Given the description of an element on the screen output the (x, y) to click on. 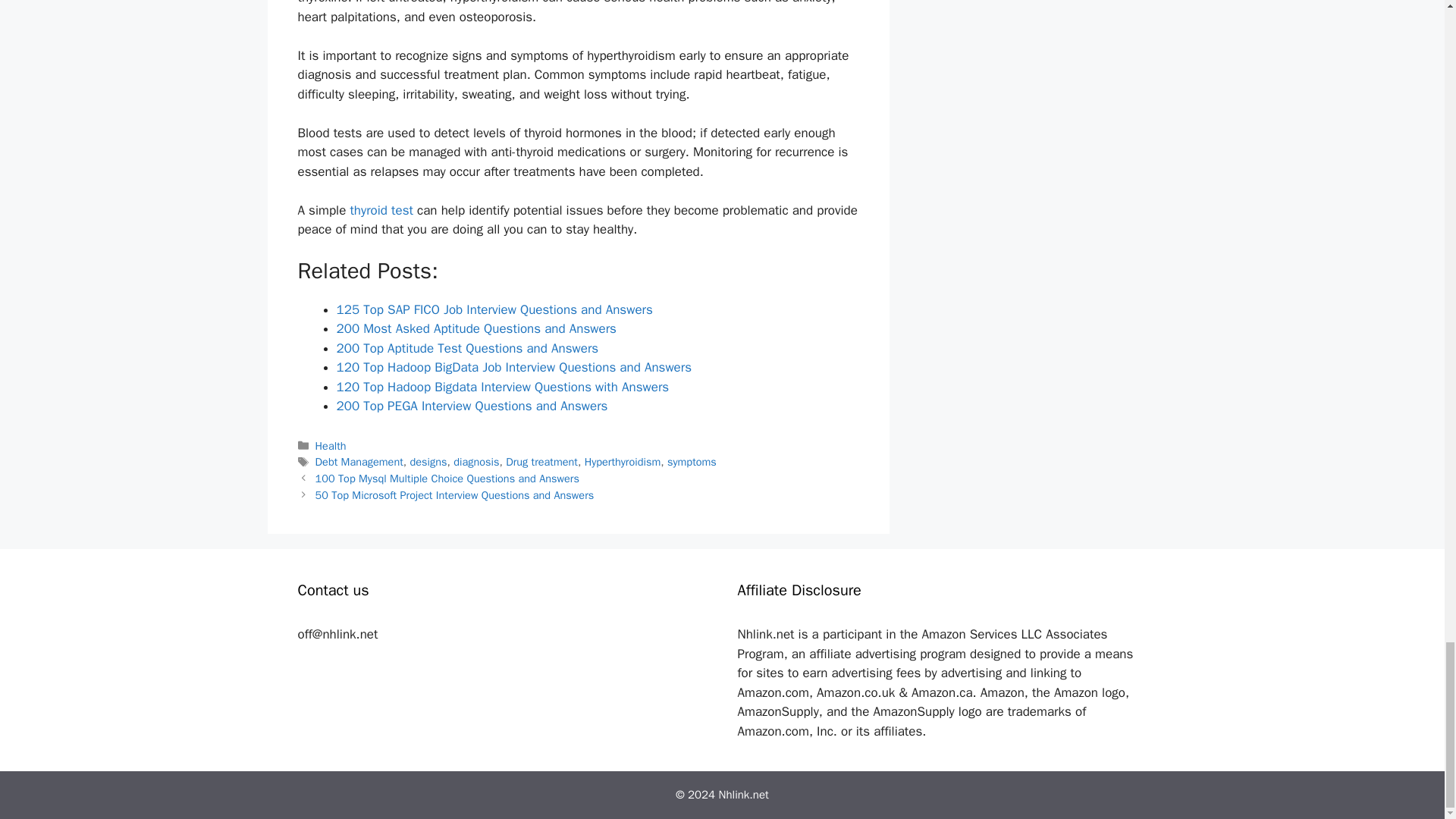
Hyperthyroidism (623, 461)
125 Top SAP FICO Job Interview Questions and Answers (494, 309)
Drug treatment (541, 461)
200 Top Aptitude Test Questions and Answers (467, 348)
thyroid test (381, 210)
diagnosis (475, 461)
Debt Management (359, 461)
100 Top Mysql Multiple Choice Questions and Answers (447, 478)
200 Most Asked Aptitude Questions and Answers (475, 328)
200 Top PEGA Interview Questions and Answers (472, 406)
